Given the description of an element on the screen output the (x, y) to click on. 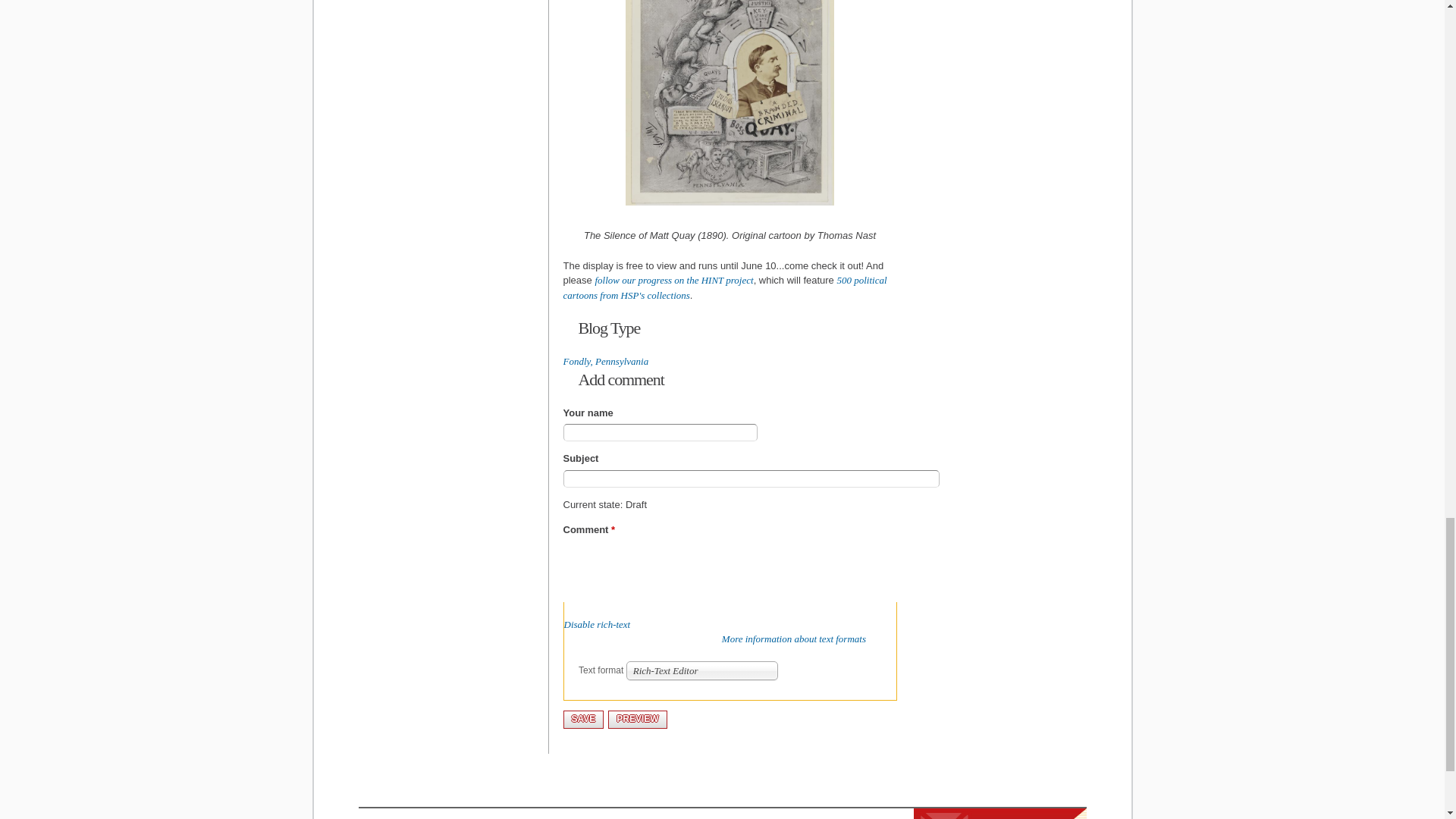
Save (583, 719)
Preview (637, 719)
